Given the description of an element on the screen output the (x, y) to click on. 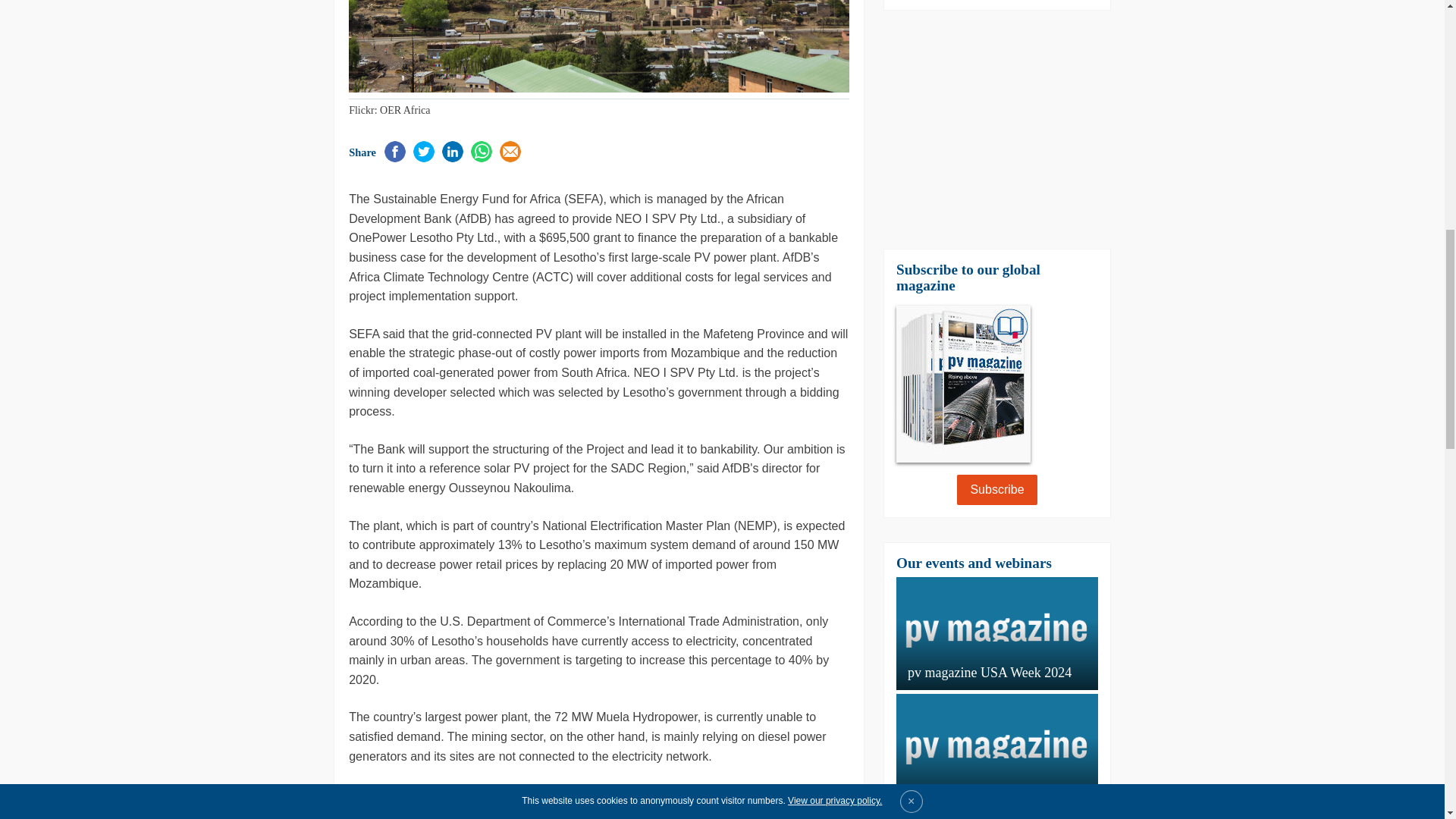
3rd party ad content (996, 129)
